Given the description of an element on the screen output the (x, y) to click on. 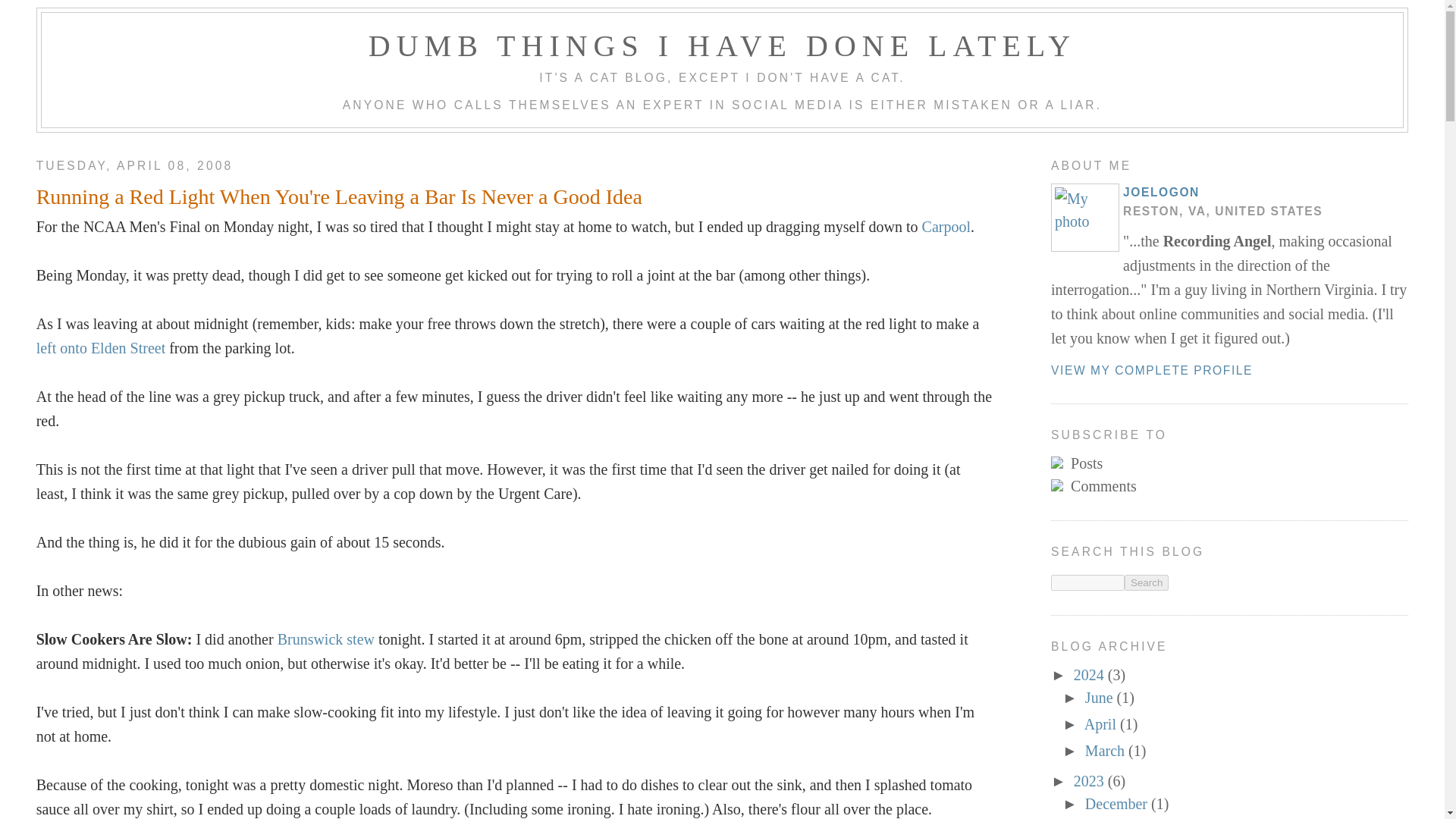
DUMB THINGS I HAVE DONE LATELY (721, 45)
Search (1146, 582)
left onto Elden Street (100, 347)
search (1087, 582)
Carpool (946, 226)
JOELOGON (1160, 192)
Brunswick stew (326, 638)
Search (1146, 582)
VIEW MY COMPLETE PROFILE (1151, 369)
search (1146, 582)
